Given the description of an element on the screen output the (x, y) to click on. 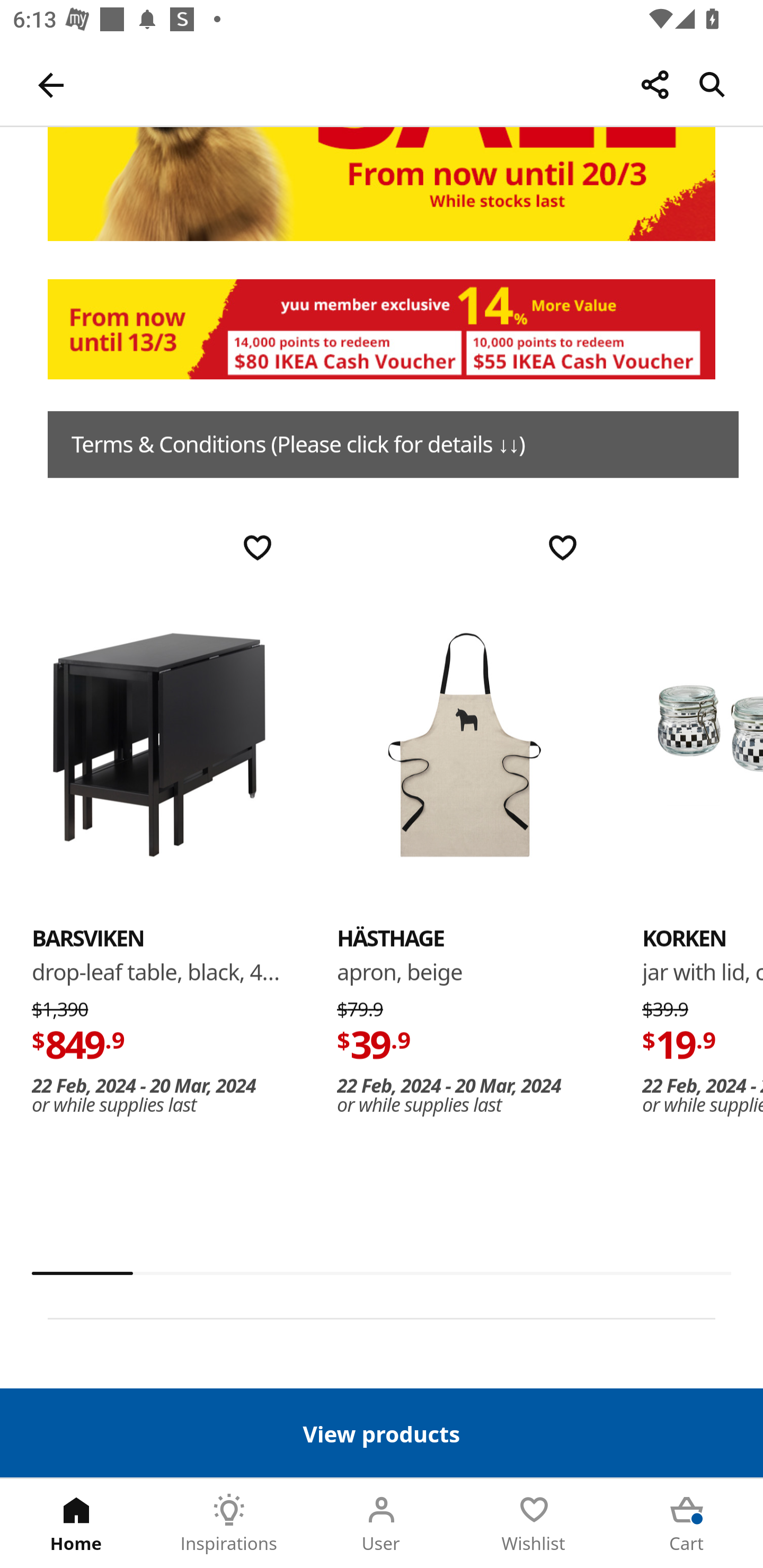
Terms & Conditions (Please click for details ↓↓) (393, 444)
BARSVIKEN (159, 743)
HÄSTHAGE (464, 743)
KORKEN (702, 743)
BARSVIKEN (88, 937)
HÄSTHAGE (390, 937)
KORKEN (684, 937)
0.0 (381, 1273)
View products (381, 1432)
Home
Tab 1 of 5 (76, 1522)
Inspirations
Tab 2 of 5 (228, 1522)
User
Tab 3 of 5 (381, 1522)
Wishlist
Tab 4 of 5 (533, 1522)
Cart
Tab 5 of 5 (686, 1522)
